Given the description of an element on the screen output the (x, y) to click on. 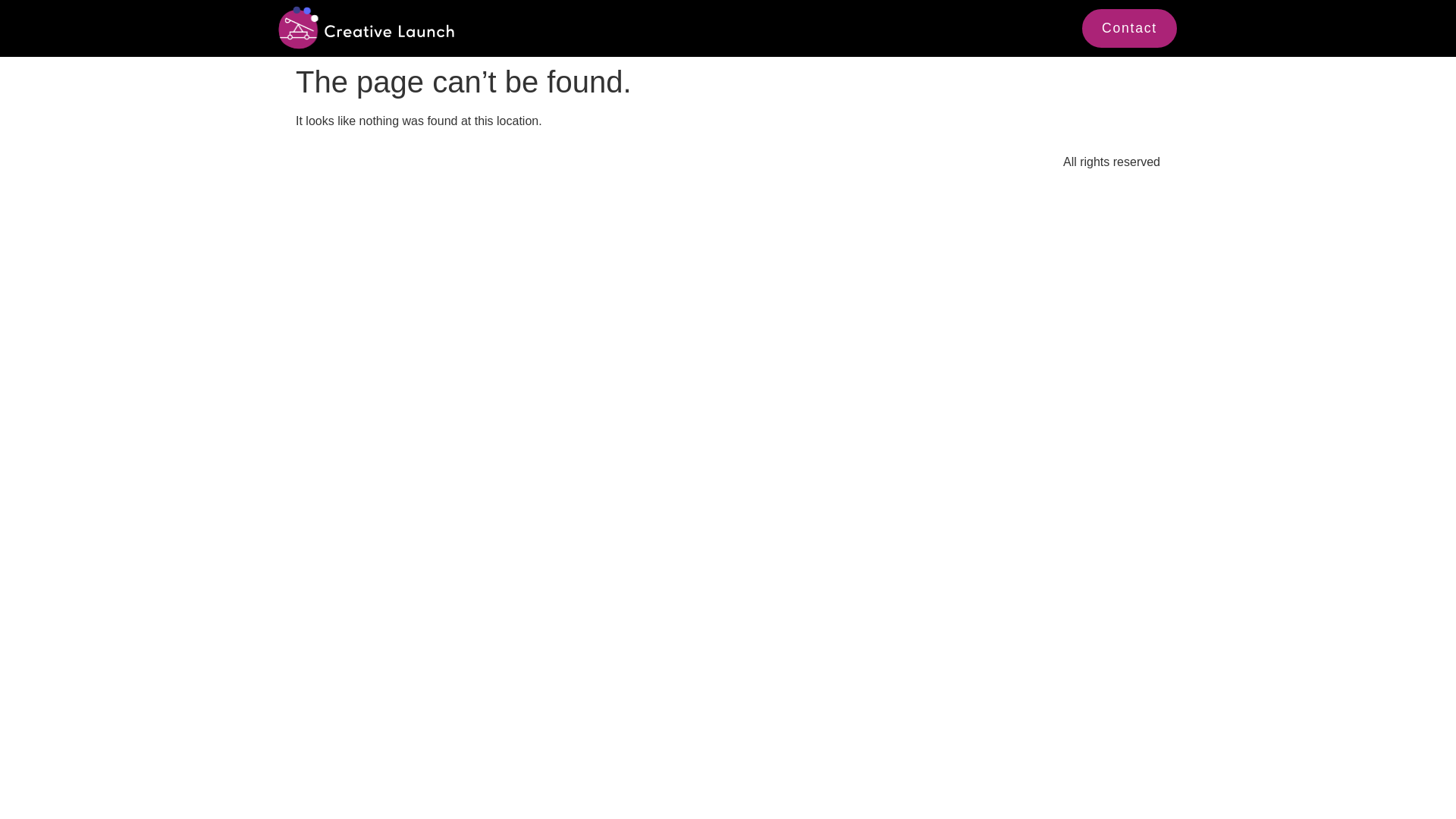
Contact (1128, 28)
